Given the description of an element on the screen output the (x, y) to click on. 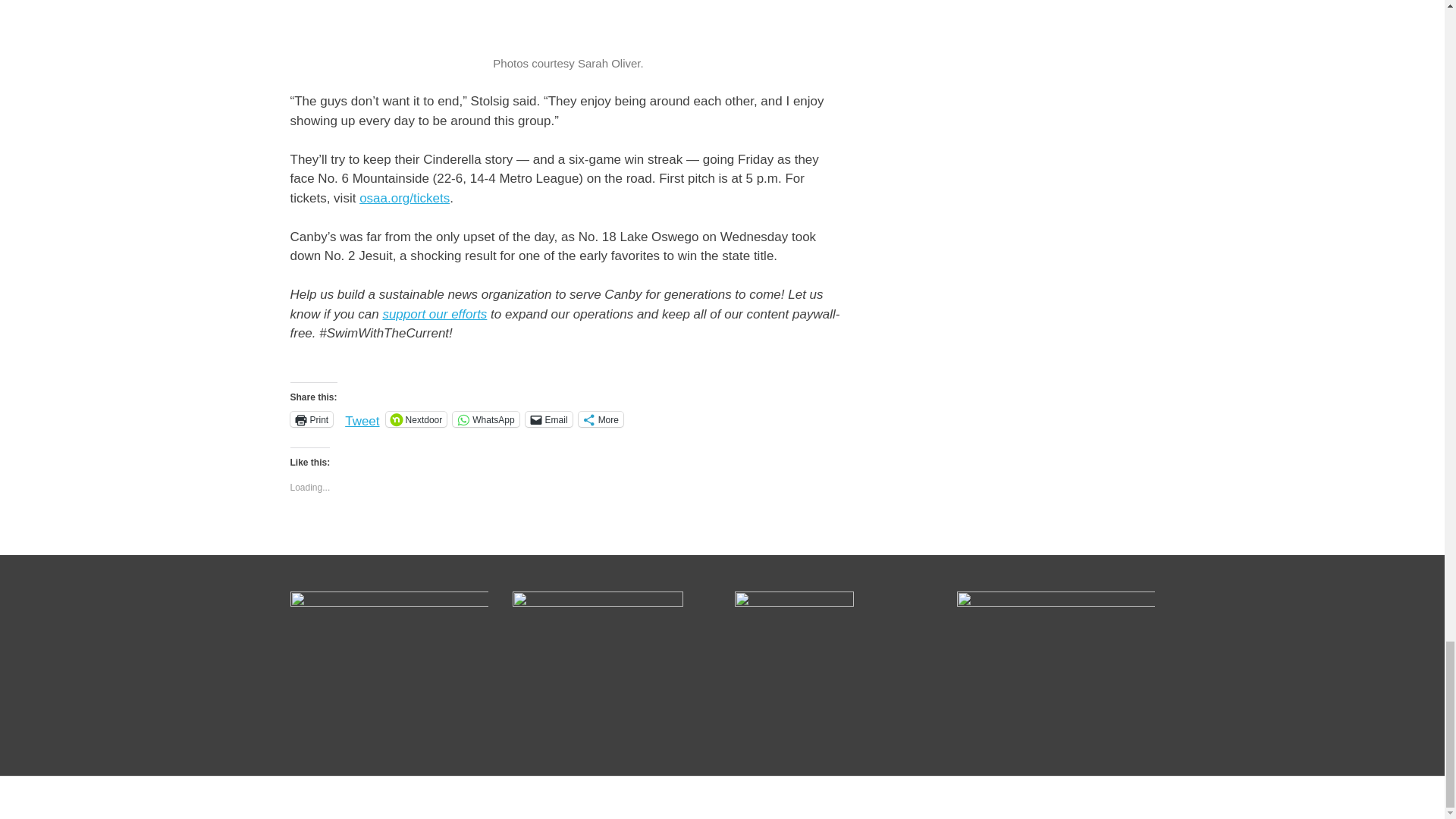
Click to share on WhatsApp (485, 418)
Click to email a link to a friend (548, 418)
Click to share on Nextdoor (415, 418)
Click to print (311, 418)
